Given the description of an element on the screen output the (x, y) to click on. 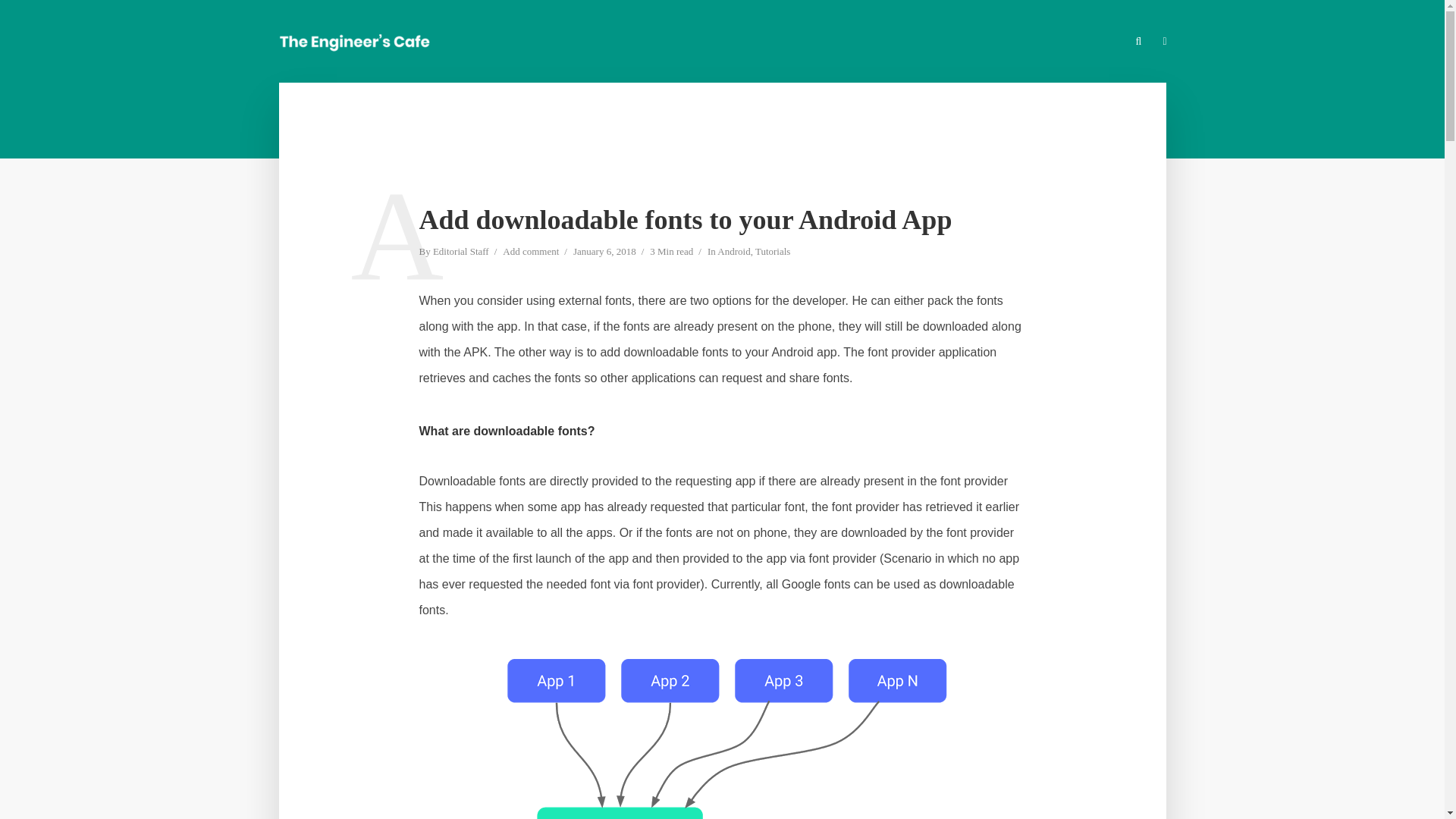
Add comment (530, 252)
Editorial Staff (460, 252)
Tutorials (772, 252)
Android (733, 252)
